Given the description of an element on the screen output the (x, y) to click on. 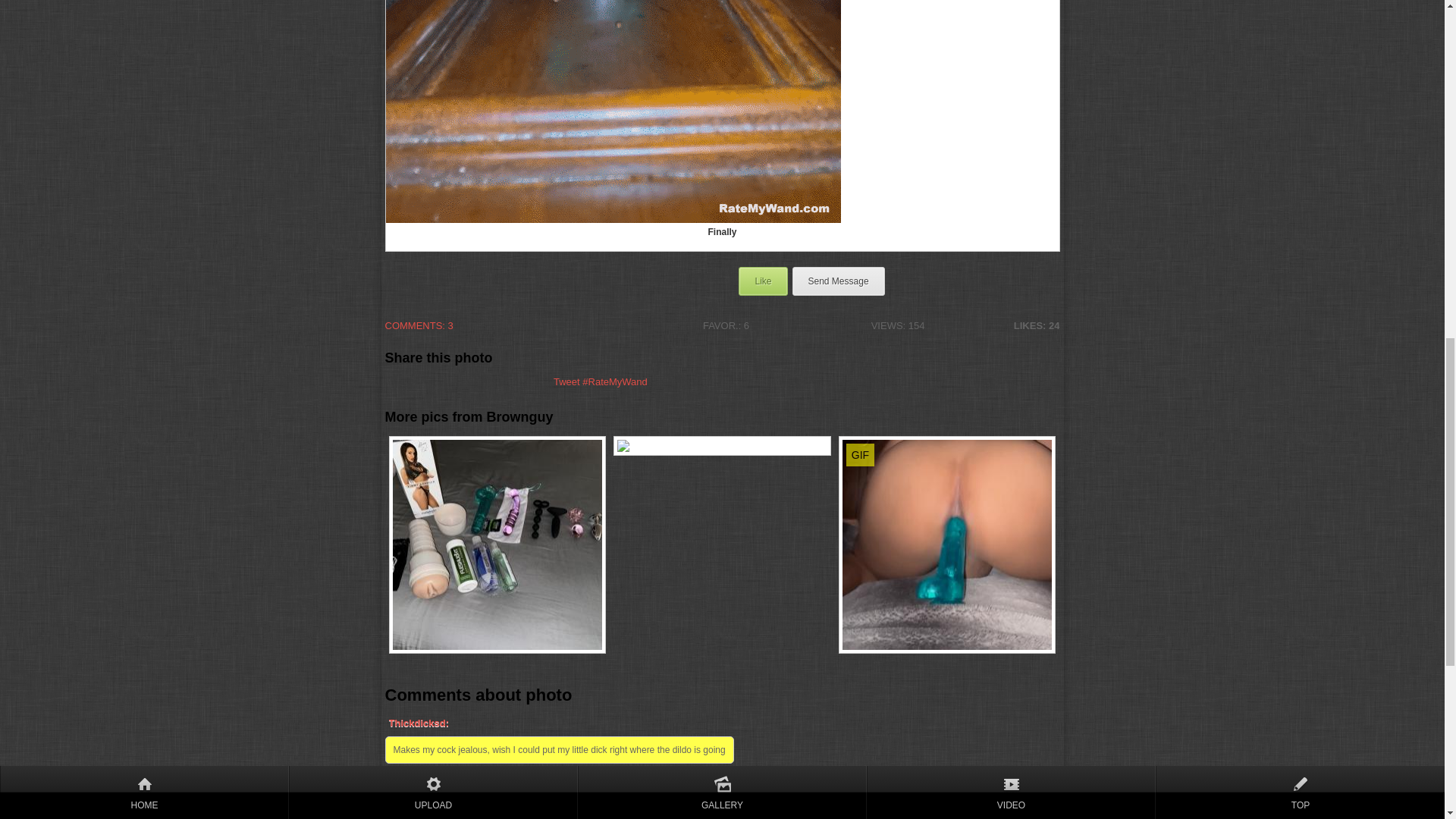
Thickdicksd: (723, 723)
Share on Tumblr (415, 380)
drippingcock: (723, 787)
Like (762, 280)
Send Message (837, 280)
GIF (947, 547)
Share on Tumblr (415, 380)
Finally (612, 111)
COMMENTS: 3 (482, 333)
